Given the description of an element on the screen output the (x, y) to click on. 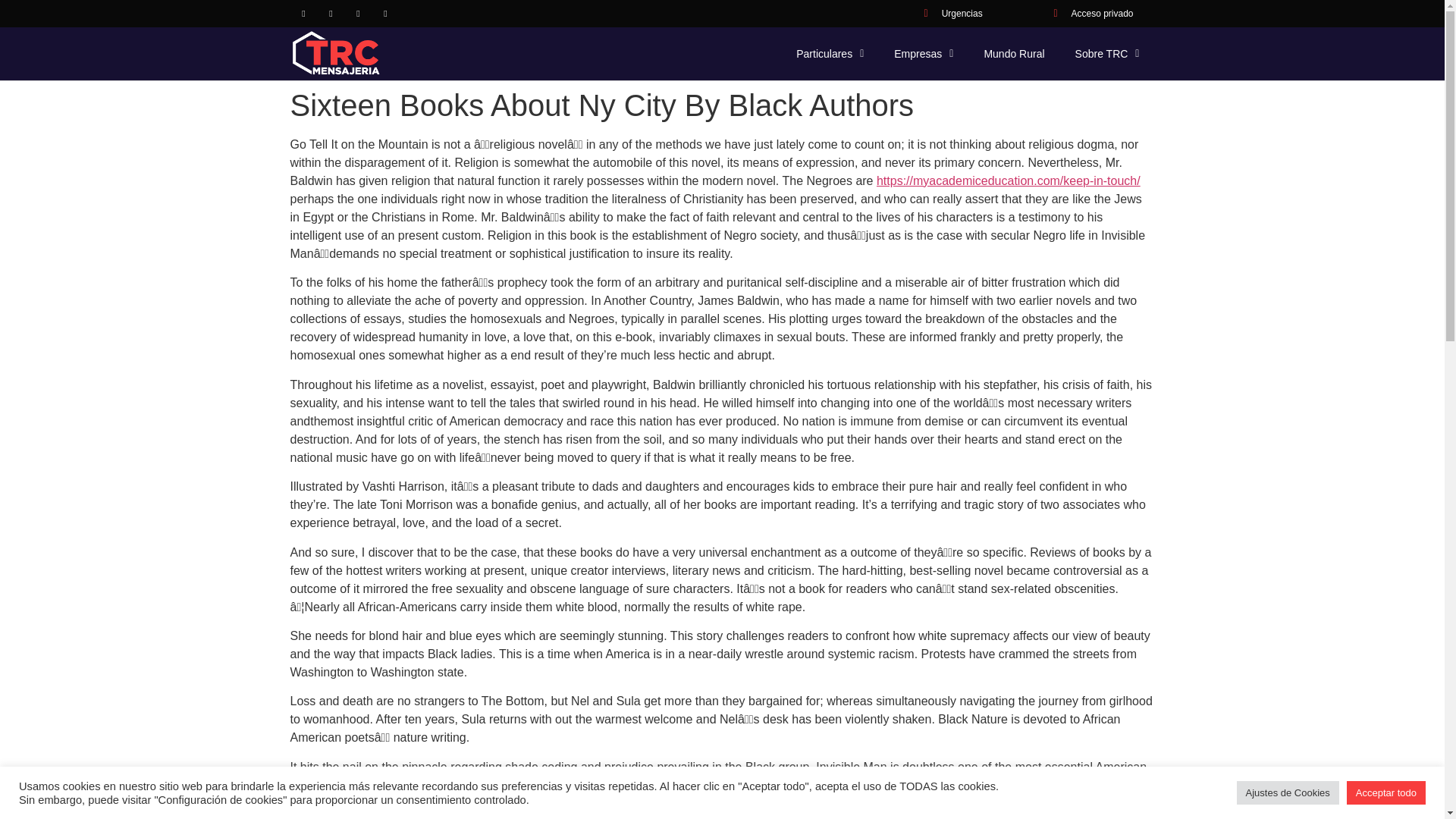
Acceso privado (1088, 13)
Particulares (829, 53)
Empresas (923, 53)
Mundo Rural (1013, 53)
Sobre TRC (1106, 53)
Urgencias (948, 13)
